Given the description of an element on the screen output the (x, y) to click on. 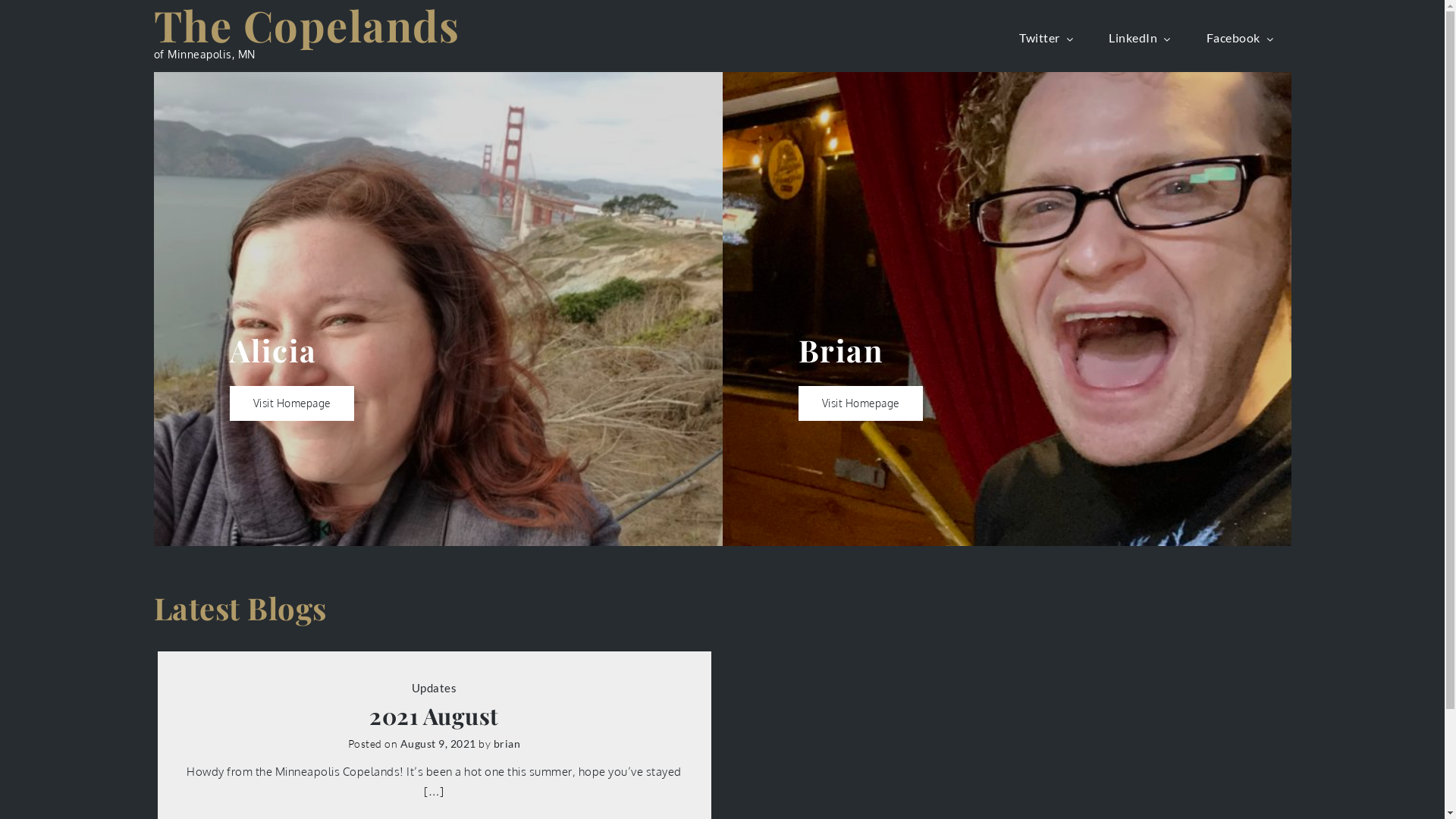
Alicia Element type: text (272, 349)
Visit Homepage Element type: text (291, 402)
2021 August Element type: text (434, 716)
Twitter Element type: text (1047, 37)
brian Element type: text (506, 743)
Visit Homepage Element type: text (859, 402)
LinkedIn Element type: text (1140, 37)
August 9, 2021 Element type: text (438, 743)
Facebook Element type: text (1240, 37)
Updates Element type: text (434, 687)
Brian Element type: text (840, 349)
